Given the description of an element on the screen output the (x, y) to click on. 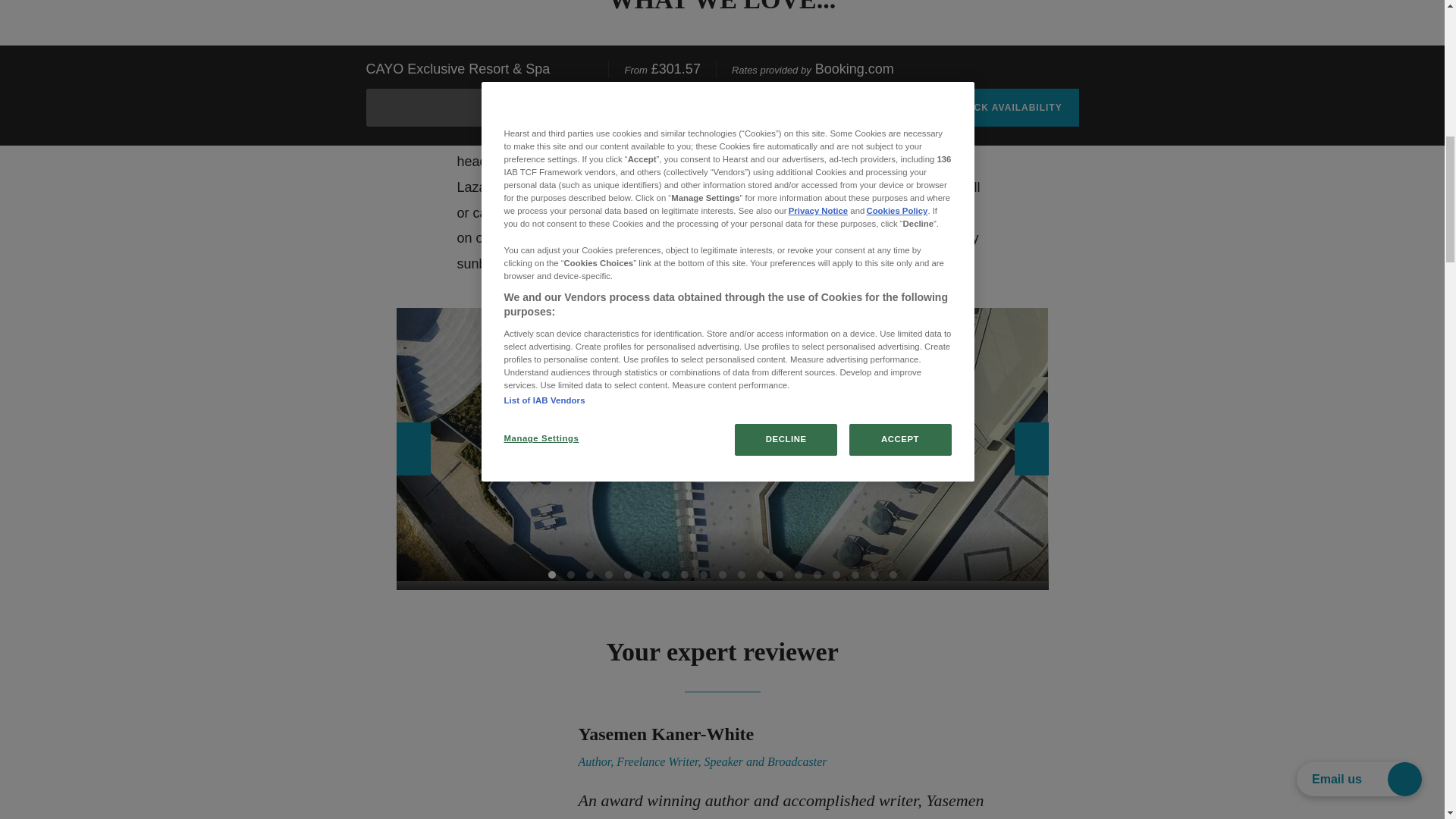
1 (550, 574)
8 (684, 574)
9 (702, 574)
2 (571, 574)
4 (608, 574)
7 (664, 574)
3 (588, 574)
6 (646, 574)
5 (626, 574)
